Given the description of an element on the screen output the (x, y) to click on. 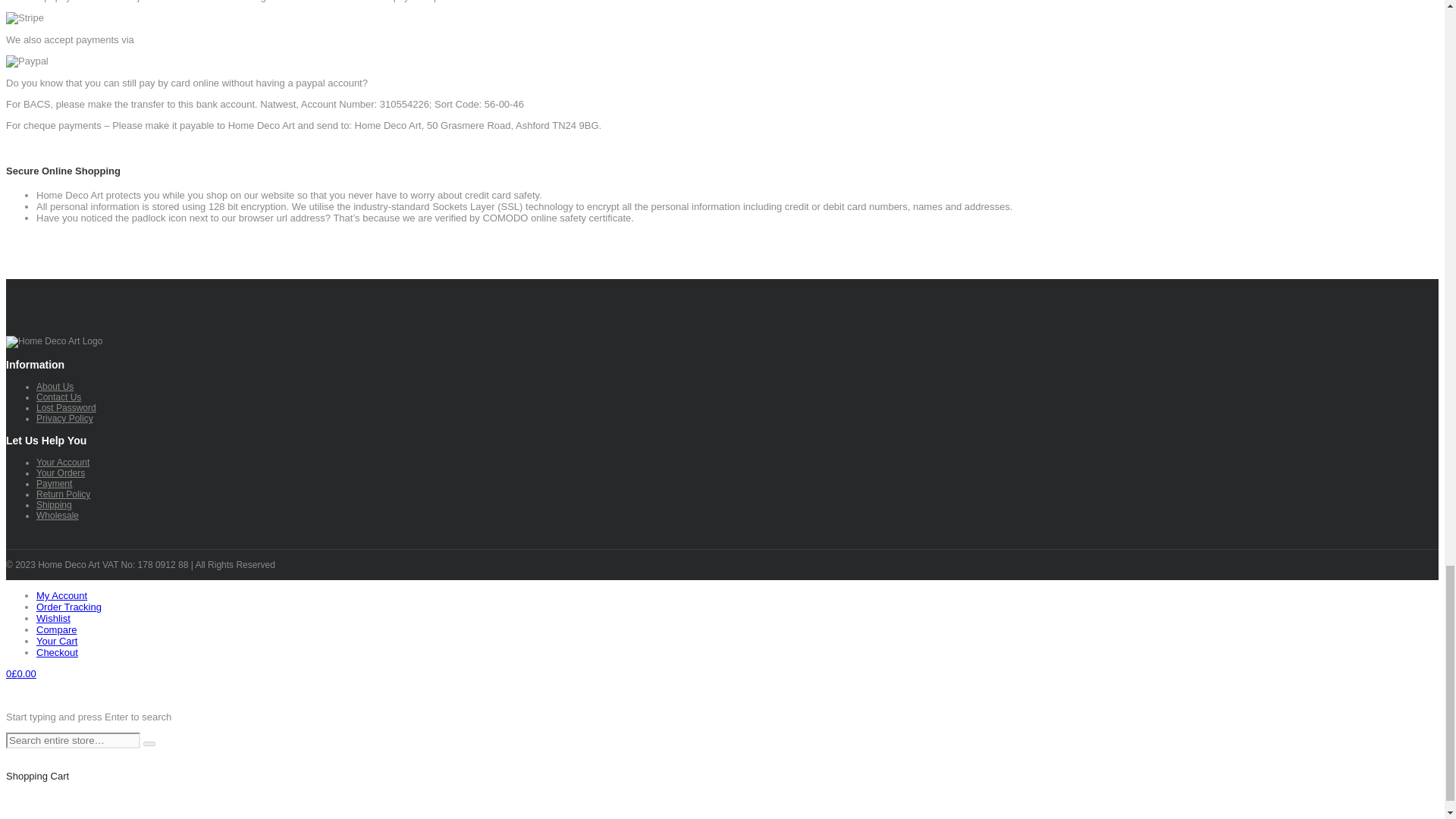
Search for: (72, 740)
